Given the description of an element on the screen output the (x, y) to click on. 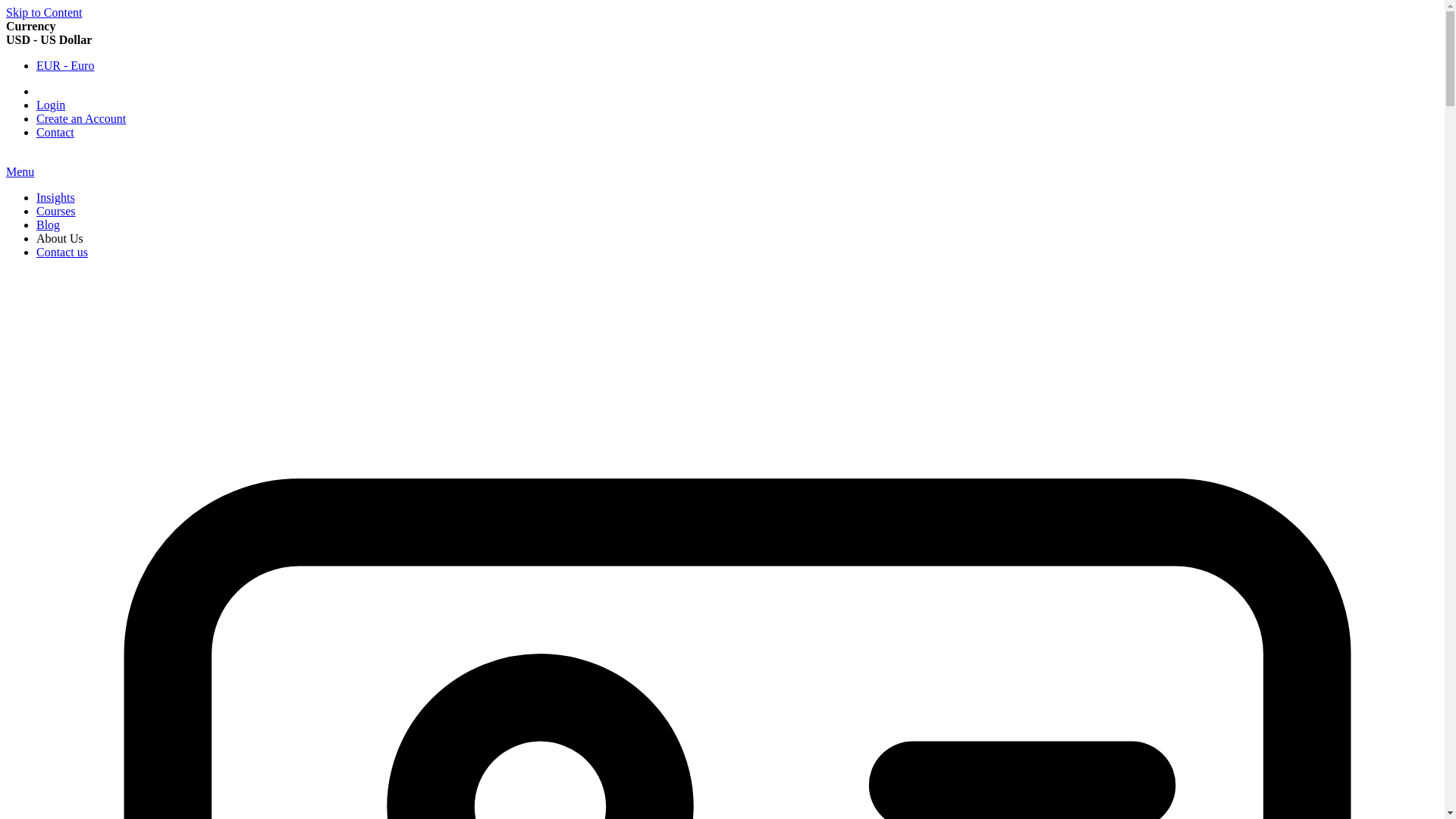
Blog (47, 224)
Login (50, 104)
Skip to Content (43, 11)
Courses (55, 210)
Menu (19, 171)
Insights (55, 196)
EUR - Euro (65, 65)
Contact us (61, 251)
Create an Account (80, 118)
Contact (55, 132)
